Given the description of an element on the screen output the (x, y) to click on. 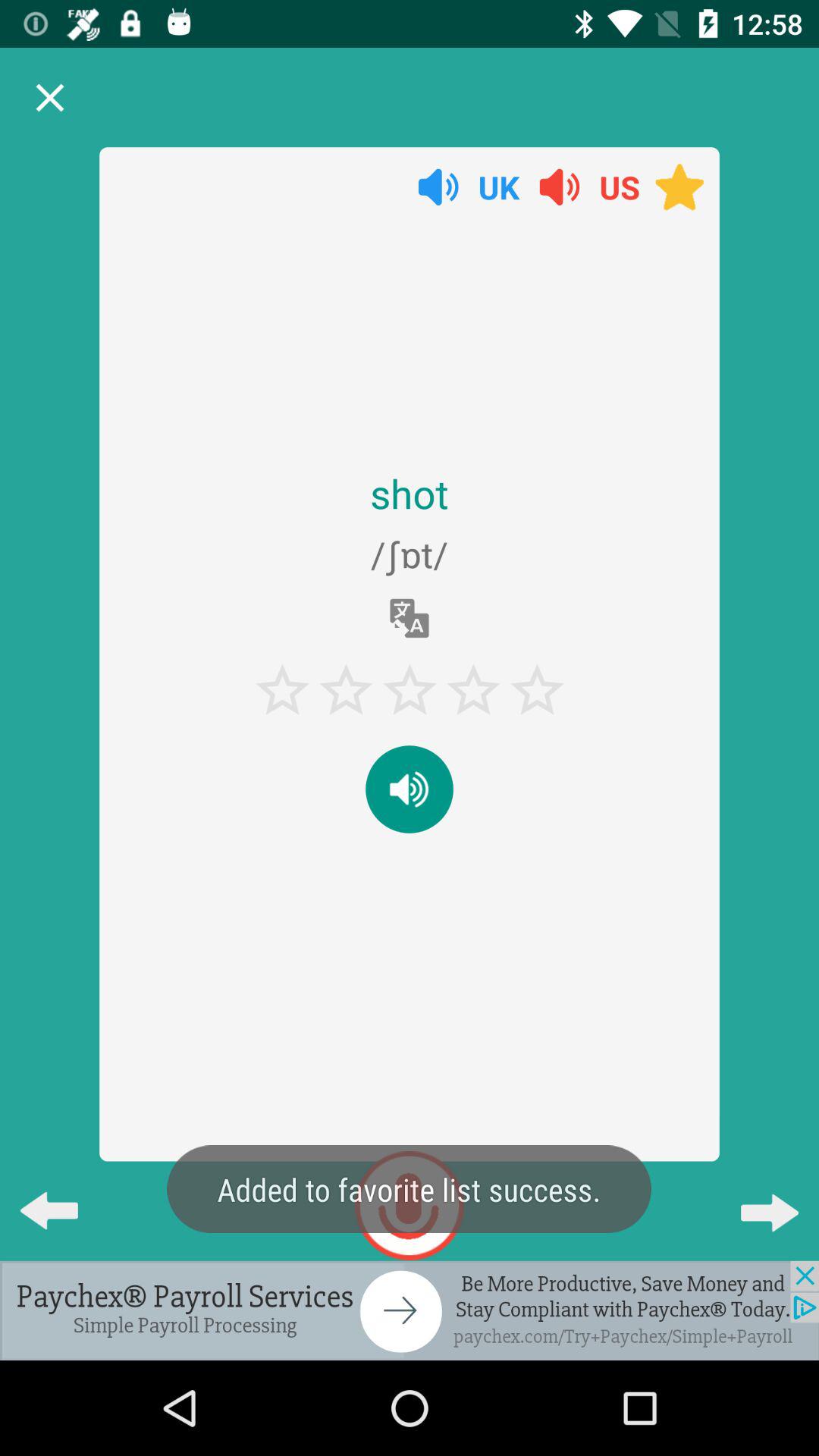
play text (409, 789)
